Given the description of an element on the screen output the (x, y) to click on. 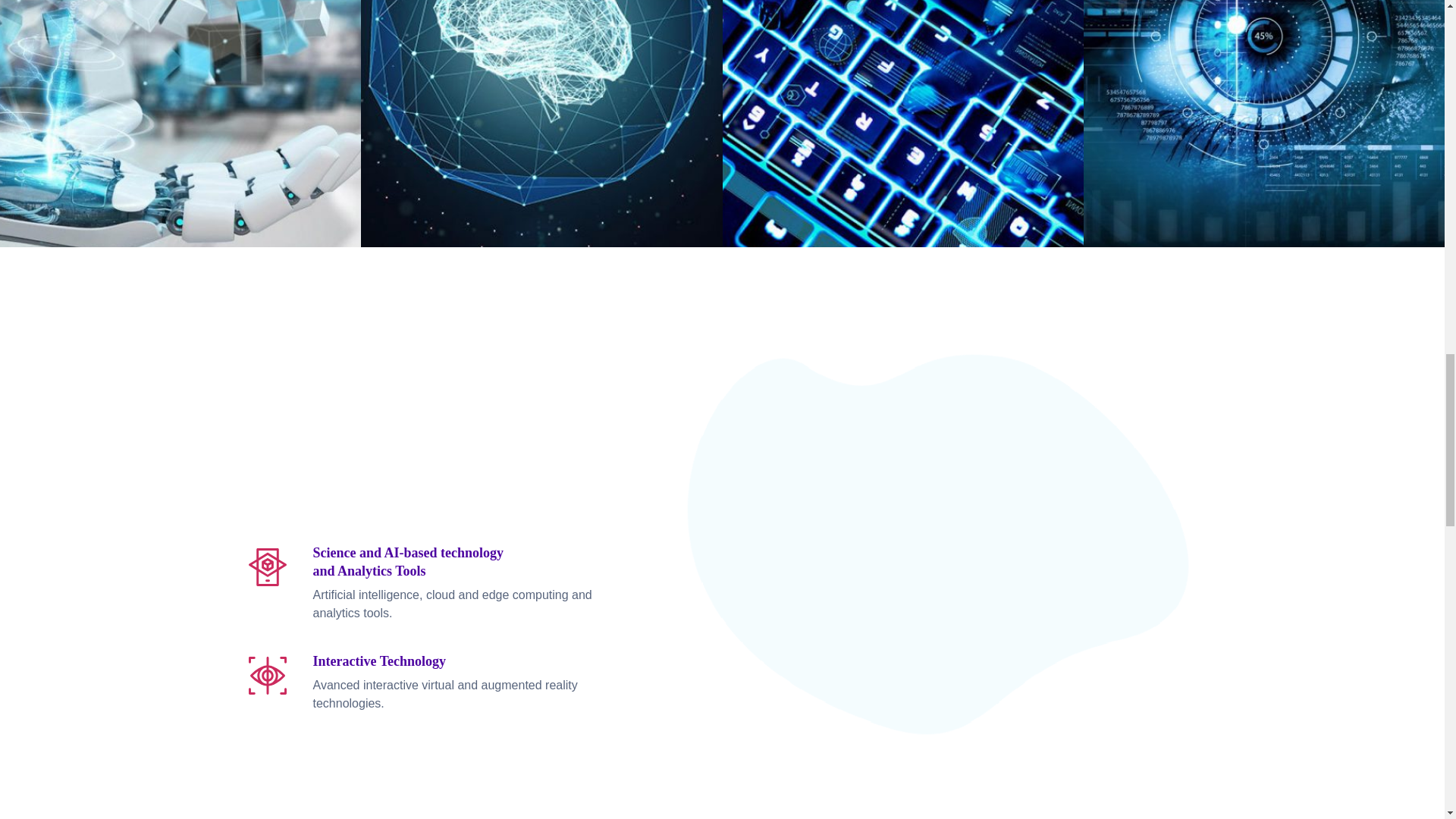
AdobeStock1 (530, 116)
human-robot (175, 116)
image-from-rawpixe (891, 116)
